Given the description of an element on the screen output the (x, y) to click on. 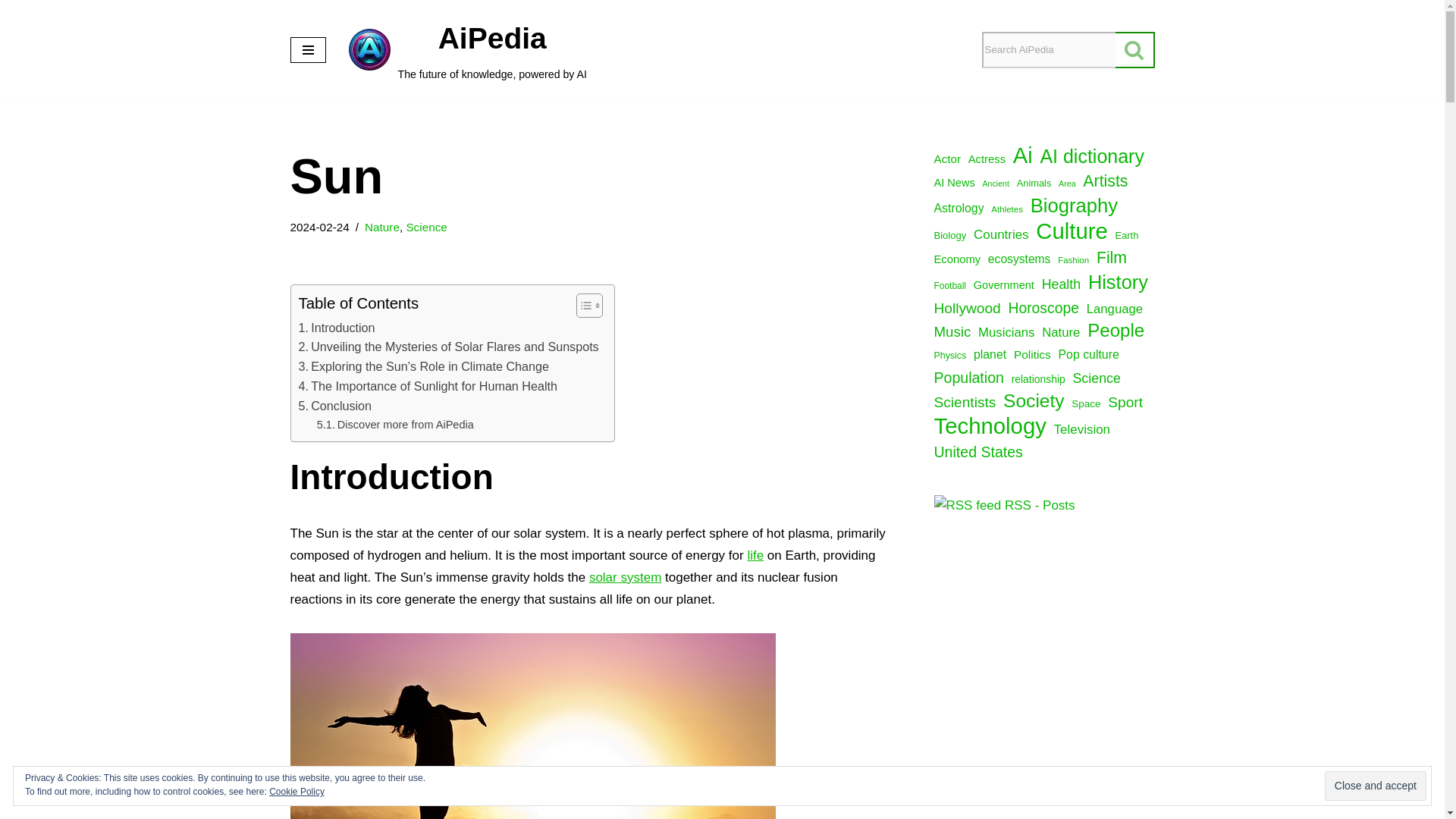
The Importance of Sunlight for Human Health (467, 49)
Conclusion (427, 386)
Introduction (335, 406)
Nature (336, 328)
Unveiling the Mysteries of Solar Flares and Sunspots (381, 226)
Conclusion (448, 347)
Discover more from AiPedia (335, 406)
The Importance of Sunlight for Human Health (395, 425)
Science (427, 386)
